Given the description of an element on the screen output the (x, y) to click on. 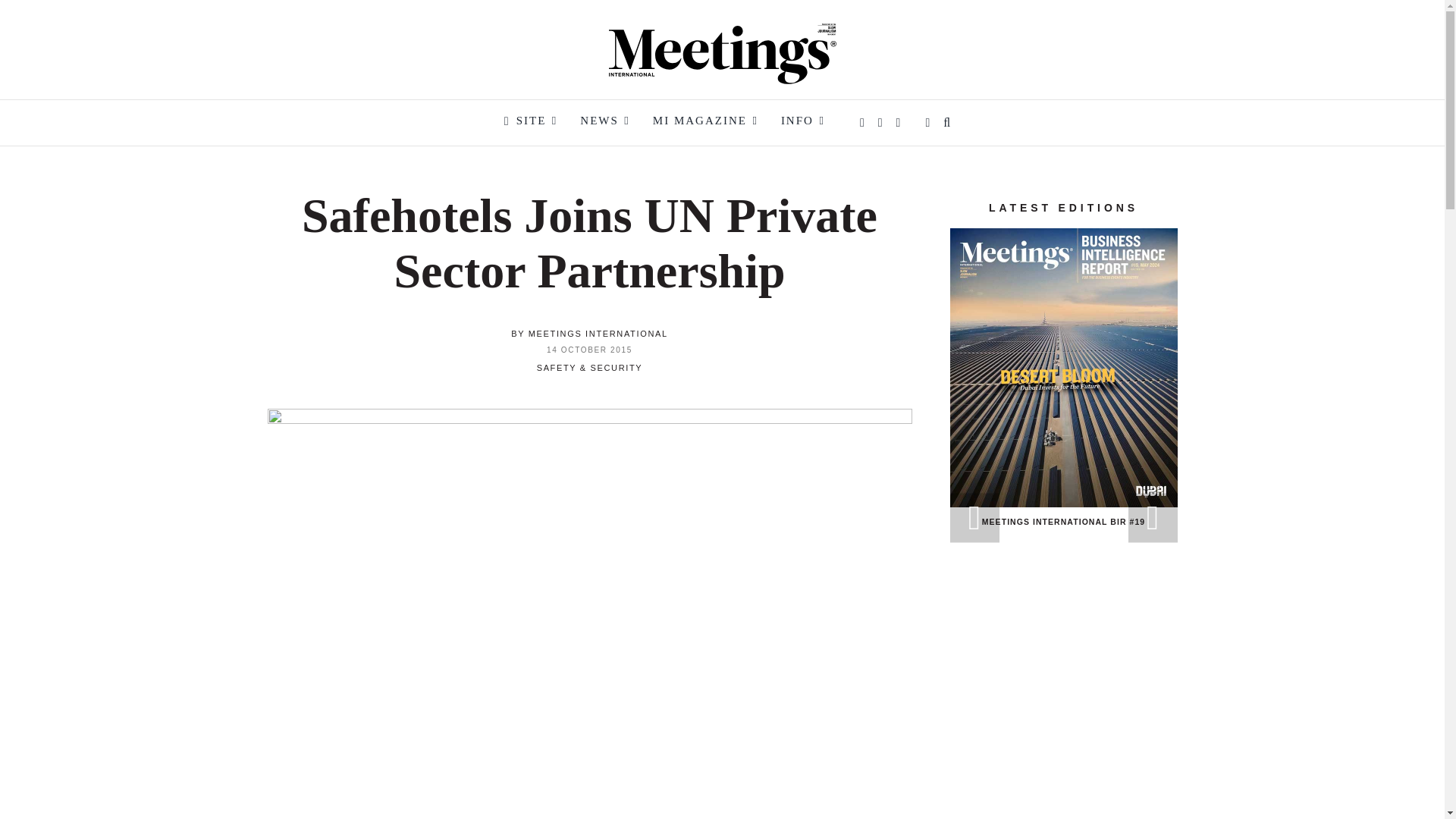
View list of all News Items (604, 122)
INFO (802, 122)
MI MAGAZINE (706, 122)
Browse all Print Editions and Articles (706, 122)
MEETINGS INTERNATIONAL (598, 333)
Global MI home page (527, 122)
NEWS (604, 122)
SITE (527, 122)
